Given the description of an element on the screen output the (x, y) to click on. 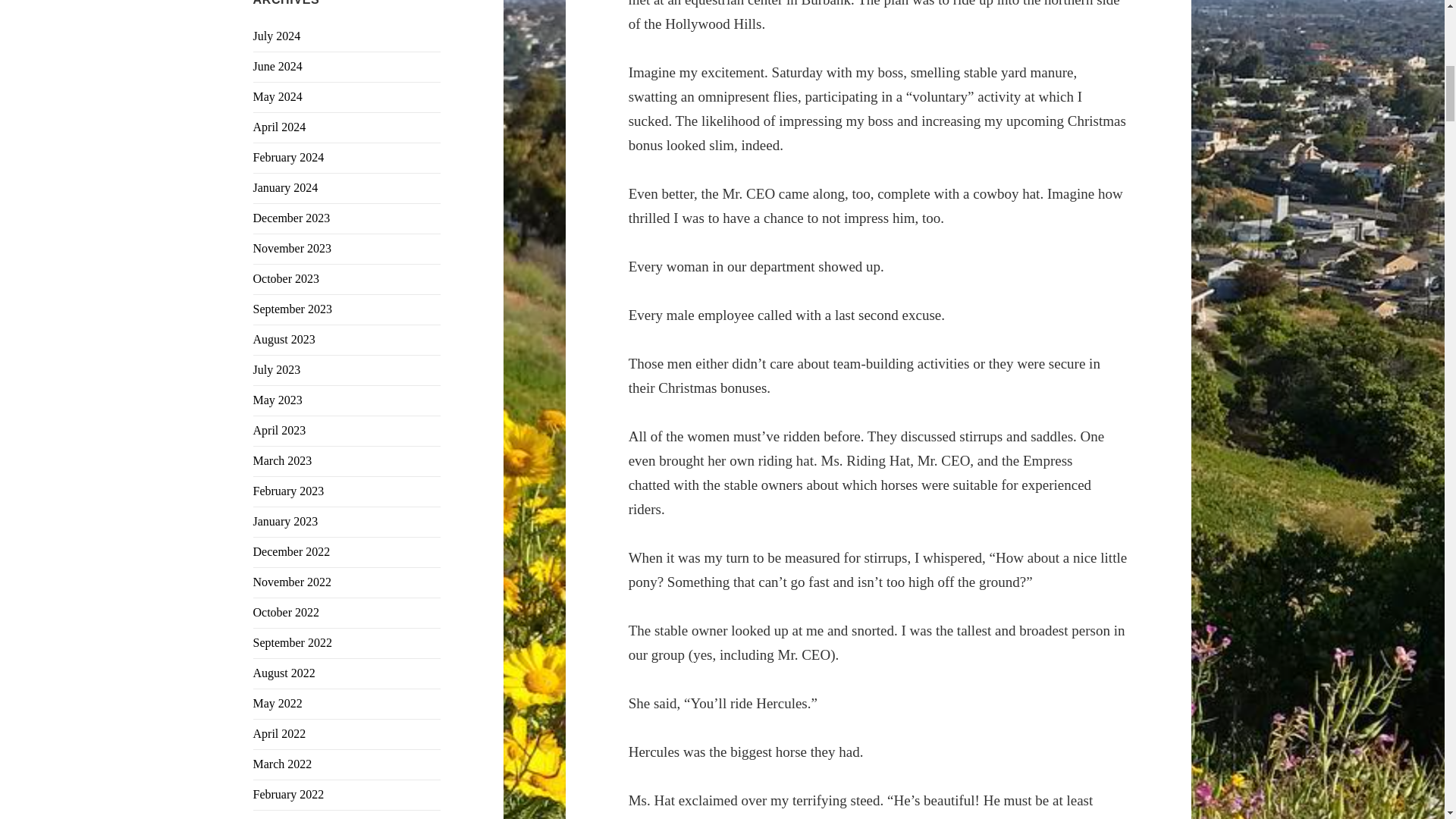
May 2023 (277, 399)
December 2023 (291, 217)
January 2024 (285, 187)
December 2022 (291, 551)
November 2023 (292, 247)
April 2023 (279, 430)
September 2022 (292, 642)
June 2024 (277, 65)
February 2023 (288, 490)
February 2024 (288, 156)
July 2023 (277, 369)
March 2023 (283, 460)
April 2024 (279, 126)
May 2024 (277, 96)
July 2024 (277, 35)
